Given the description of an element on the screen output the (x, y) to click on. 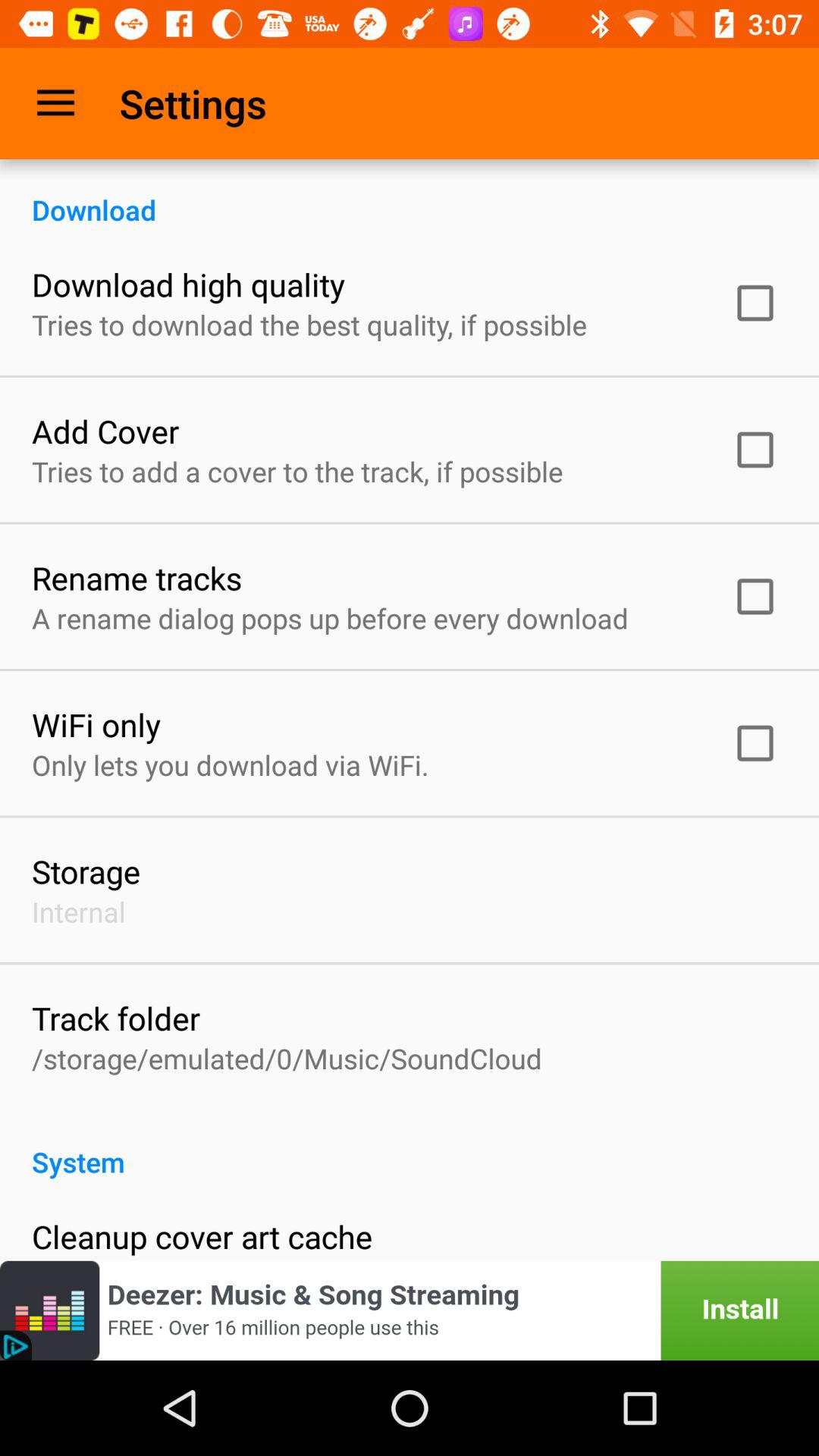
open the storage emulated 0 (286, 1058)
